Given the description of an element on the screen output the (x, y) to click on. 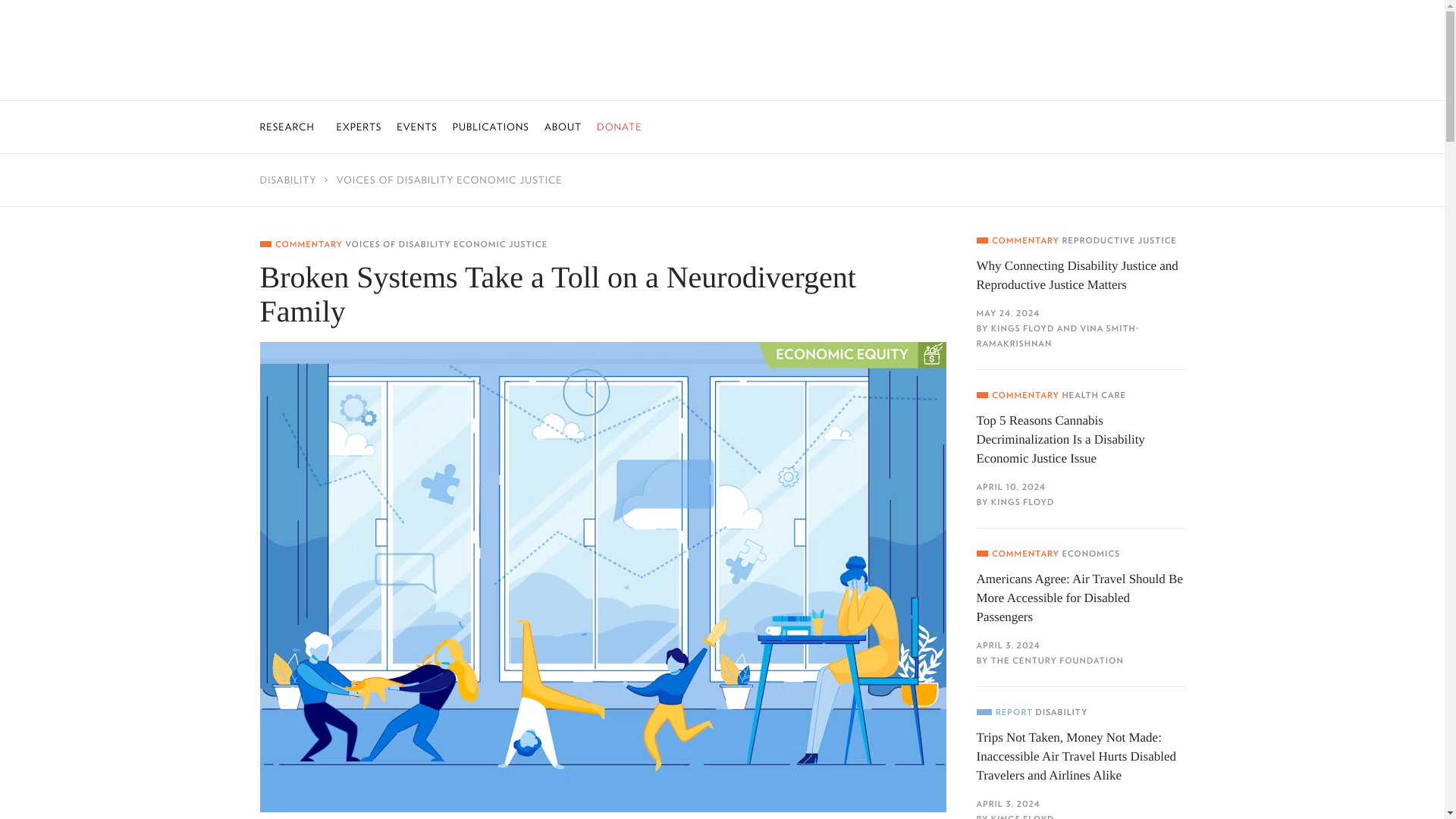
Search (21, 7)
RESEARCH (289, 126)
VOICES OF DISABILITY ECONOMIC JUSTICE (449, 180)
The Century Foundation (722, 53)
The Century Foundation (722, 50)
DISABILITY (297, 180)
PUBLICATIONS (490, 126)
